Given the description of an element on the screen output the (x, y) to click on. 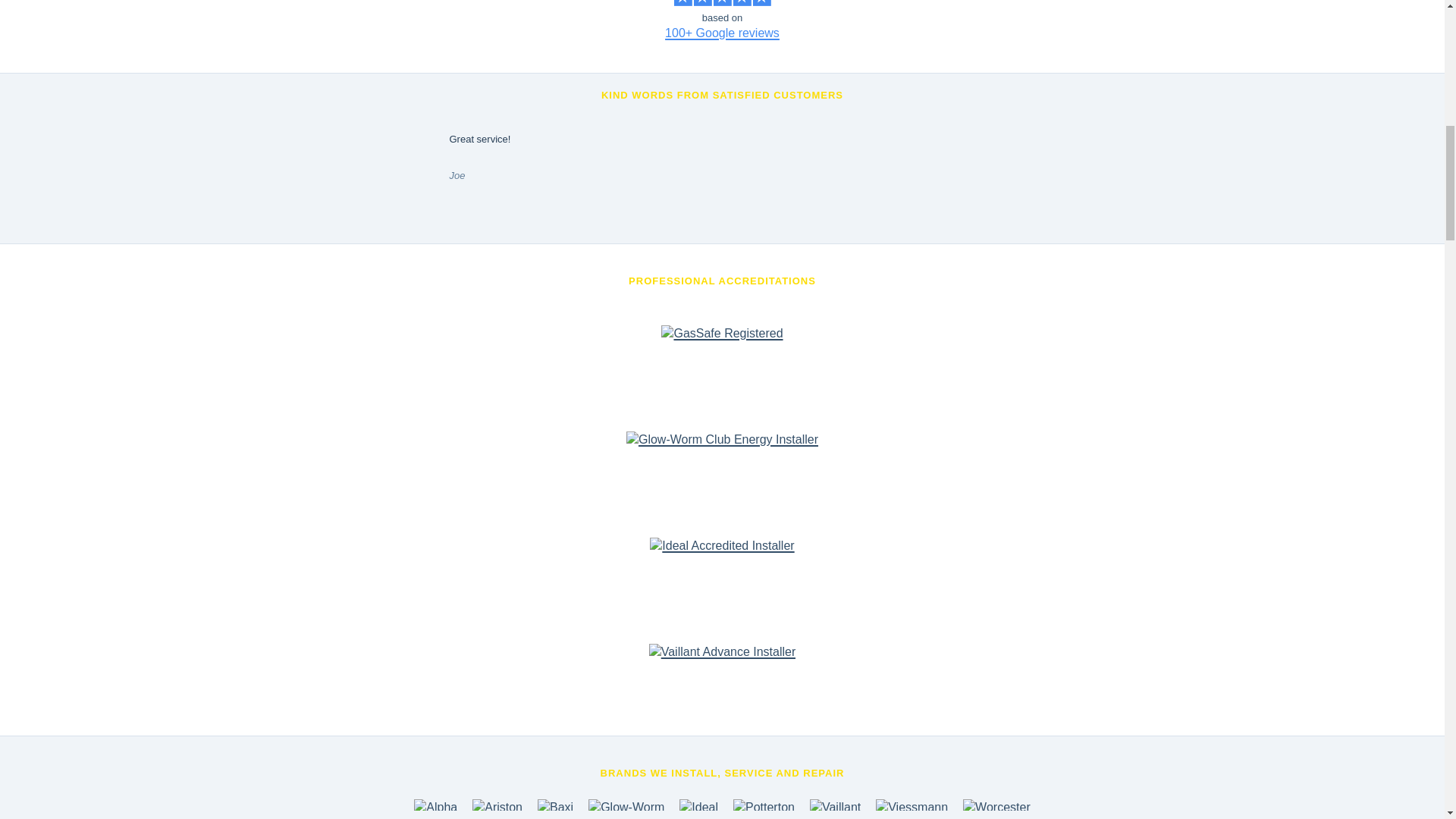
Star (702, 2)
Star (741, 2)
Star (721, 2)
Star (681, 2)
Star (761, 2)
